Given the description of an element on the screen output the (x, y) to click on. 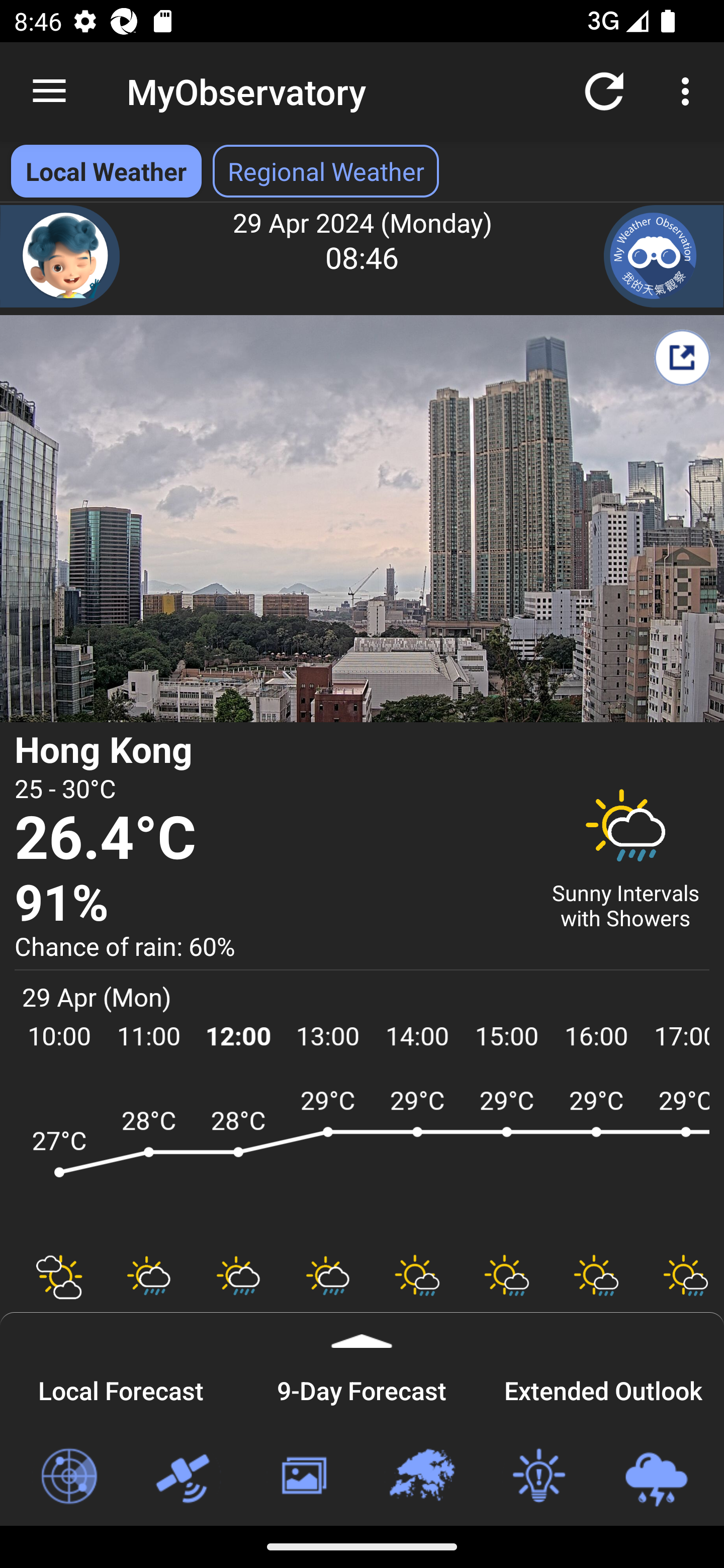
Navigate up (49, 91)
Refresh (604, 90)
More options (688, 90)
Local Weather Local Weather selected (105, 170)
Regional Weather Select Regional Weather (325, 170)
Chatbot (60, 256)
My Weather Observation (663, 256)
Share My Weather Report (681, 357)
26.4°C Temperature
26.4 degree Celsius (270, 839)
91% Relative Humidity
91 percent (270, 903)
ARWF (361, 1160)
Expand (362, 1330)
Local Forecast (120, 1387)
Extended Outlook (603, 1387)
Radar Images (68, 1476)
Satellite Images (185, 1476)
Weather Photos (302, 1476)
Regional Weather (420, 1476)
Weather Tips (537, 1476)
Loc-based Rain & Lightning Forecast (655, 1476)
